Given the description of an element on the screen output the (x, y) to click on. 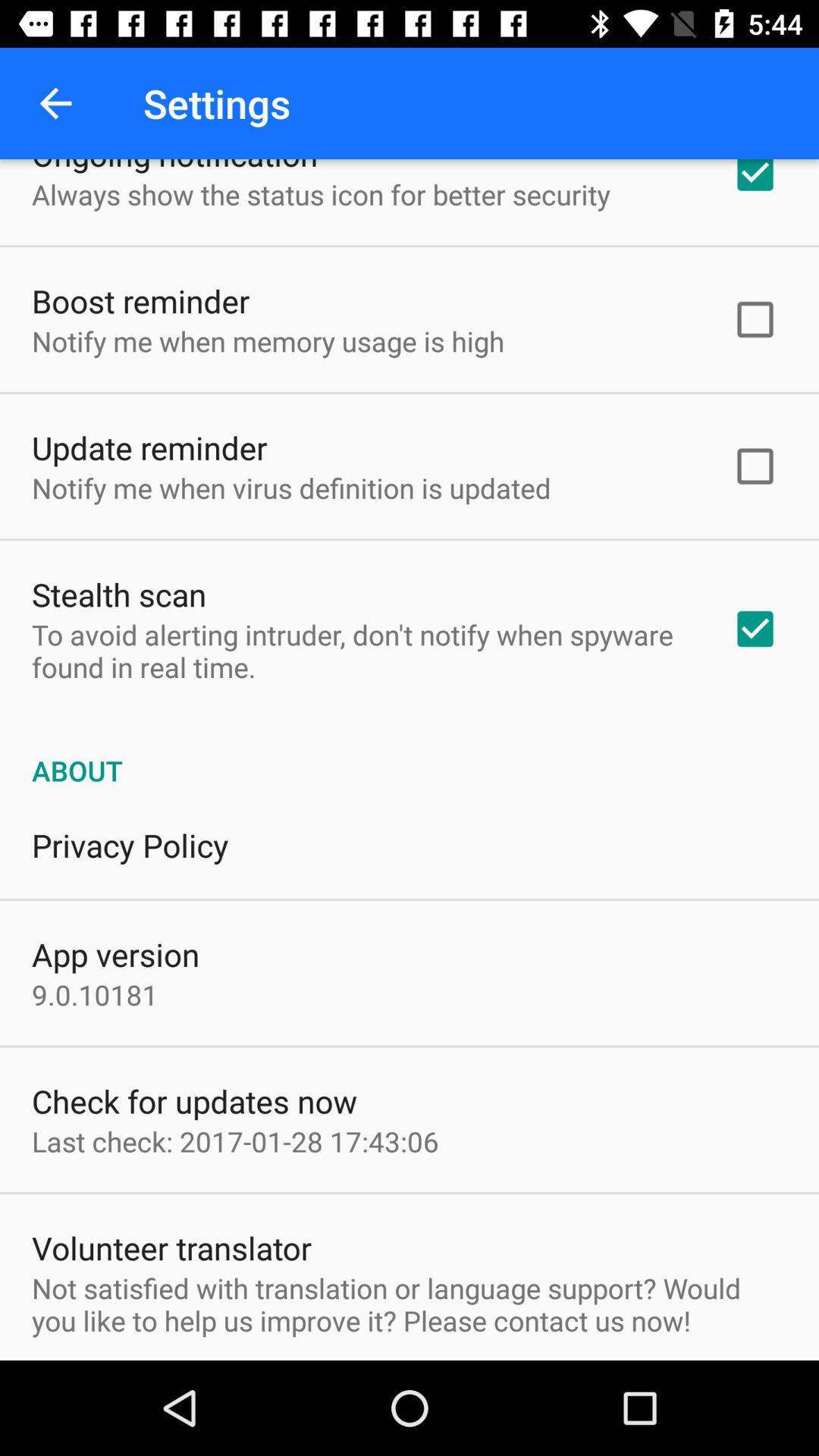
swipe to update reminder item (149, 447)
